Given the description of an element on the screen output the (x, y) to click on. 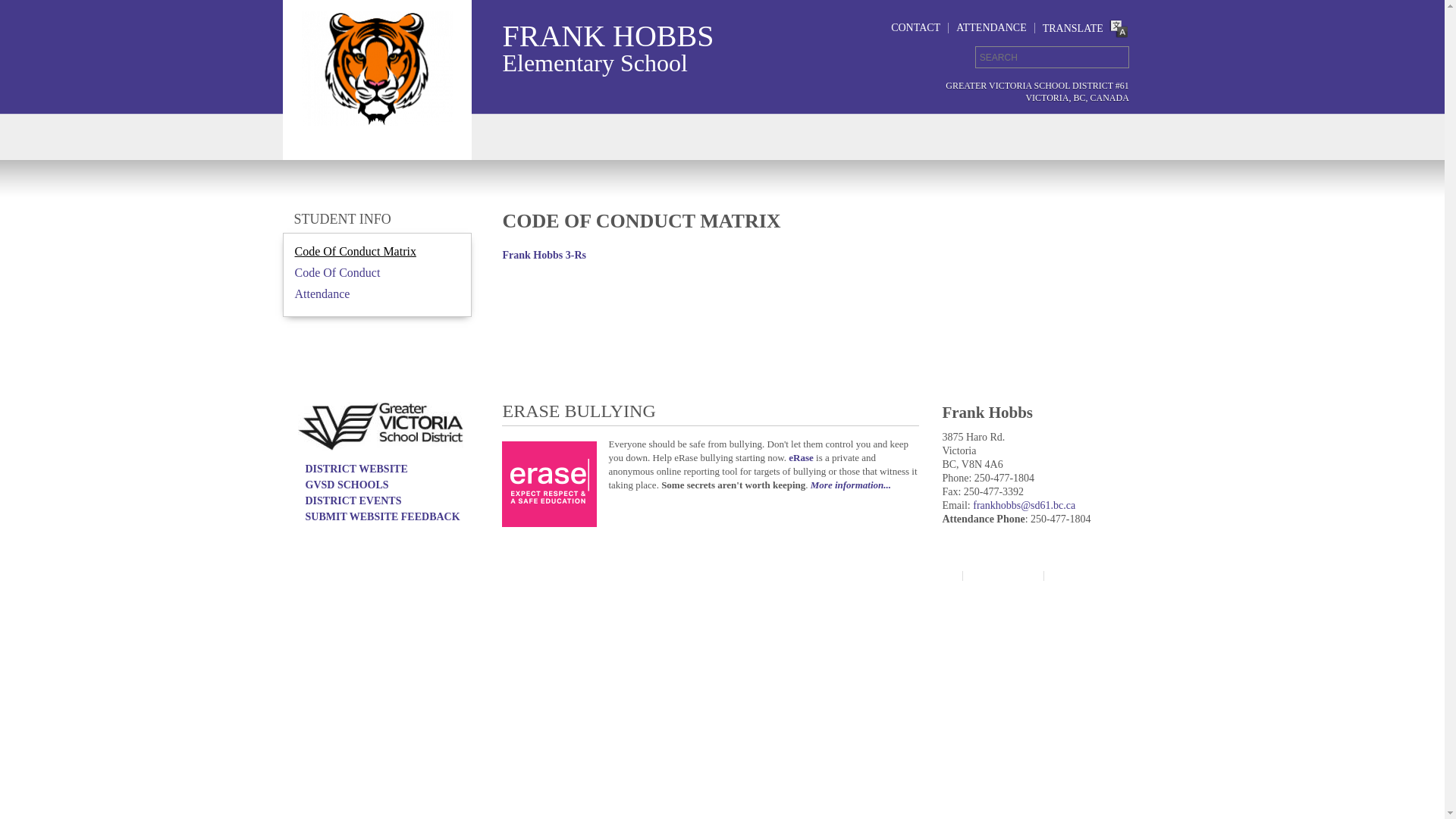
STUDENT INFO Element type: text (342, 218)
ATTENDANCE Element type: text (991, 27)
  Element type: text (1112, 57)
Attendance Element type: text (321, 293)
eRase Element type: text (800, 457)
Frank Hobbs 3-Rs Element type: text (543, 254)
CONTACT Element type: text (915, 27)
SITE INFO Element type: text (1002, 575)
DISTRICT WEBSITE Element type: text (355, 468)
DISTRICT EVENTS Element type: text (352, 500)
More information... Element type: text (850, 484)
Code Of Conduct Element type: text (336, 272)
SUBMIT WEBSITE FEEDBACK Element type: text (381, 516)
SITEMAP Element type: text (924, 575)
Code Of Conduct Matrix Element type: text (354, 250)
CREDITS Element type: text (1081, 575)
frankhobbs@sd61.bc.ca Element type: text (1023, 505)
GVSD SCHOOLS Element type: text (346, 484)
GREATER VICTORIA SCHOOL DISTRICT Element type: text (411, 574)
